Given the description of an element on the screen output the (x, y) to click on. 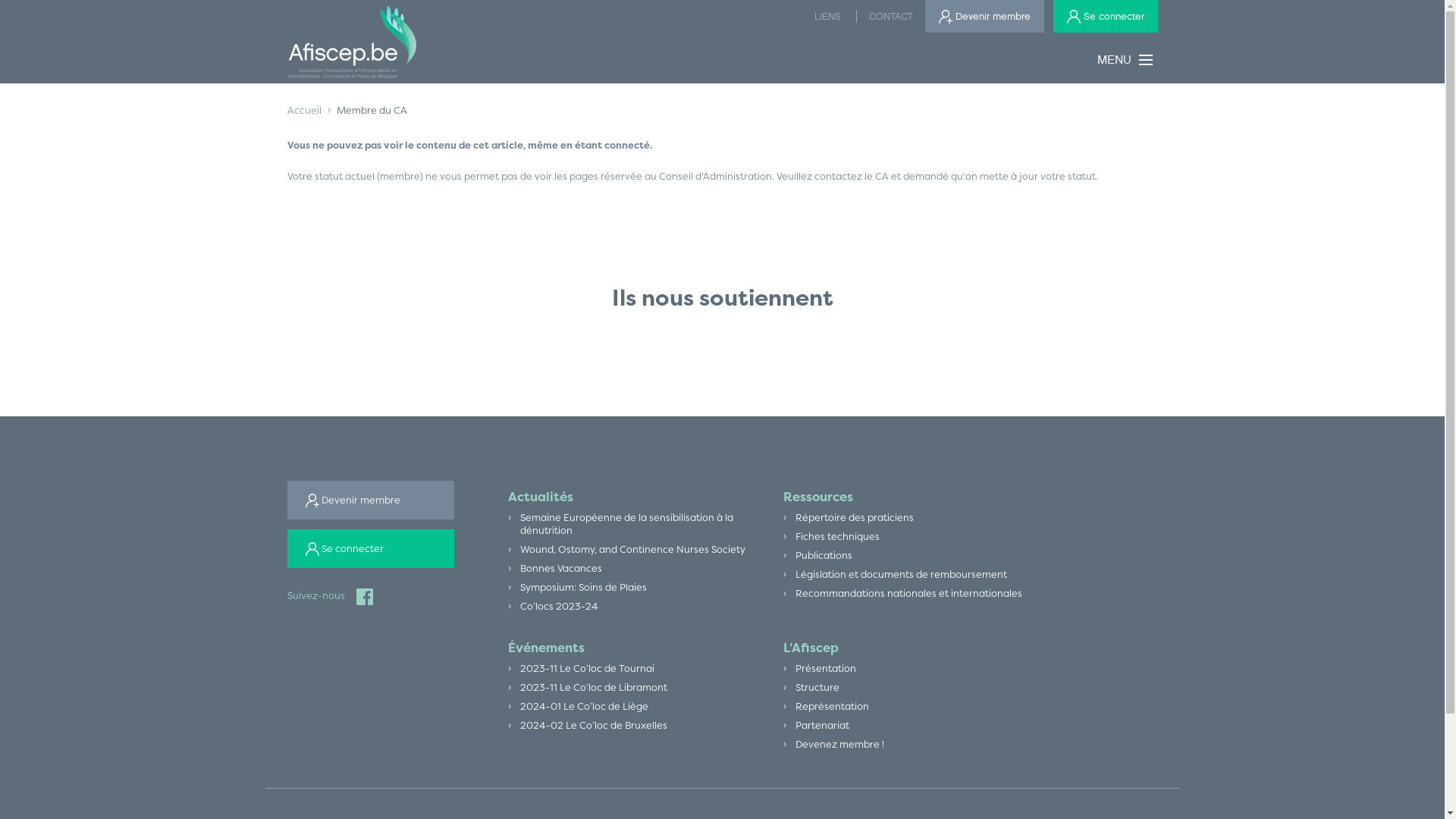
Fiches techniques Element type: text (837, 536)
Partenariat Element type: text (822, 724)
Accueil Element type: text (303, 109)
CONTACT Element type: text (889, 15)
Recommandations nationales et internationales Element type: text (908, 592)
Devenez membre ! Element type: text (839, 743)
Structure Element type: text (817, 686)
Page Facebook de l'Afiscep Element type: hover (360, 595)
Bonnes Vacances Element type: text (561, 567)
LIENS Element type: text (827, 15)
Wound, Ostomy, and Continence Nurses Society Element type: text (632, 548)
Symposium: Soins de Plaies Element type: text (583, 586)
Membre du CA Element type: text (371, 109)
Publications Element type: text (823, 555)
Devenir membre Element type: text (984, 16)
Devenir membre Element type: text (369, 499)
